Given the description of an element on the screen output the (x, y) to click on. 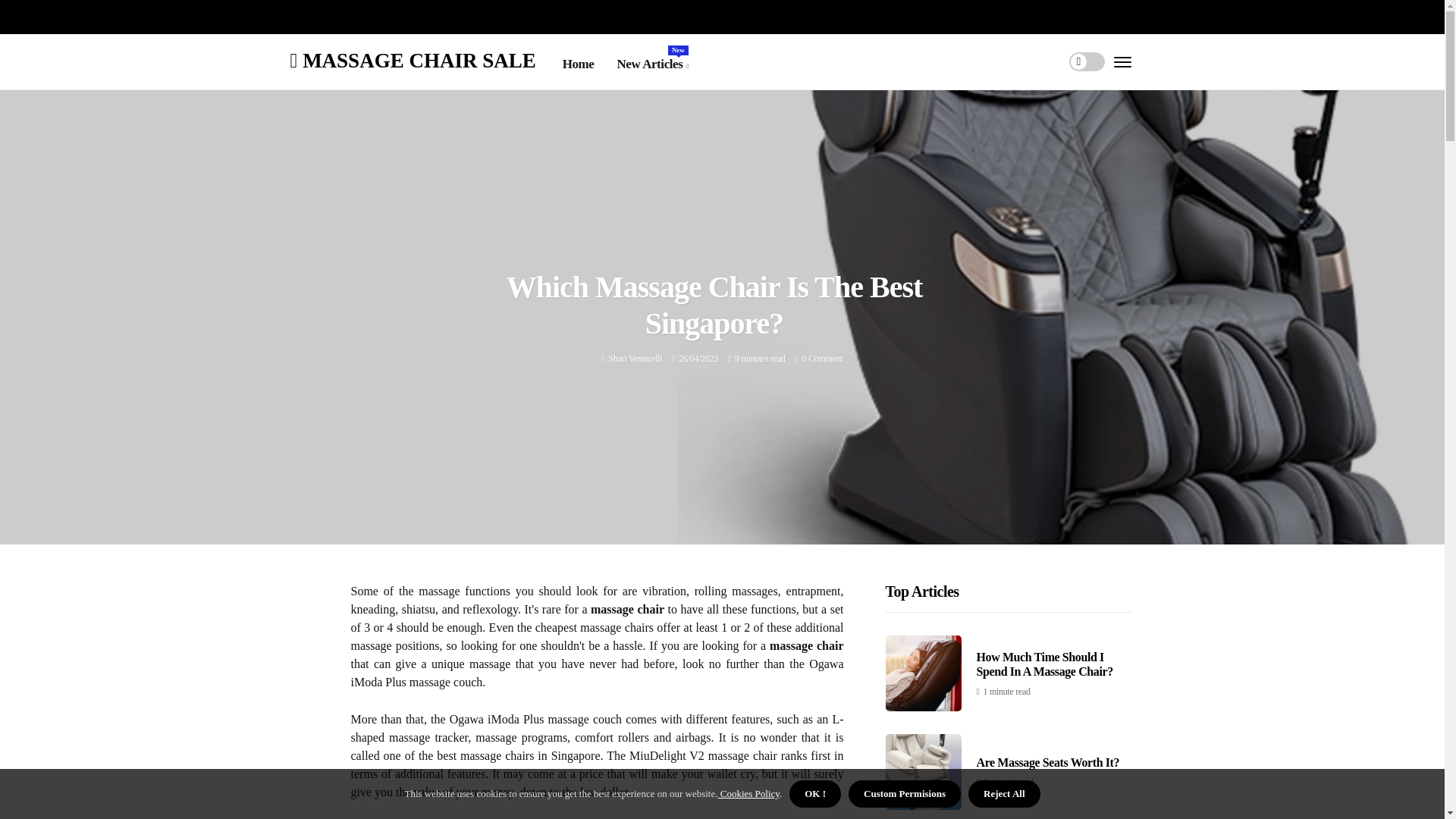
How Much Time Should I Spend In A Massage Chair? (1044, 664)
0 Comment (822, 357)
Posts by Shari Venturelli (635, 357)
MASSAGE CHAIR SALE (412, 59)
Shari Venturelli (635, 357)
Home (651, 64)
Are Massage Seats Worth It? (578, 64)
